Given the description of an element on the screen output the (x, y) to click on. 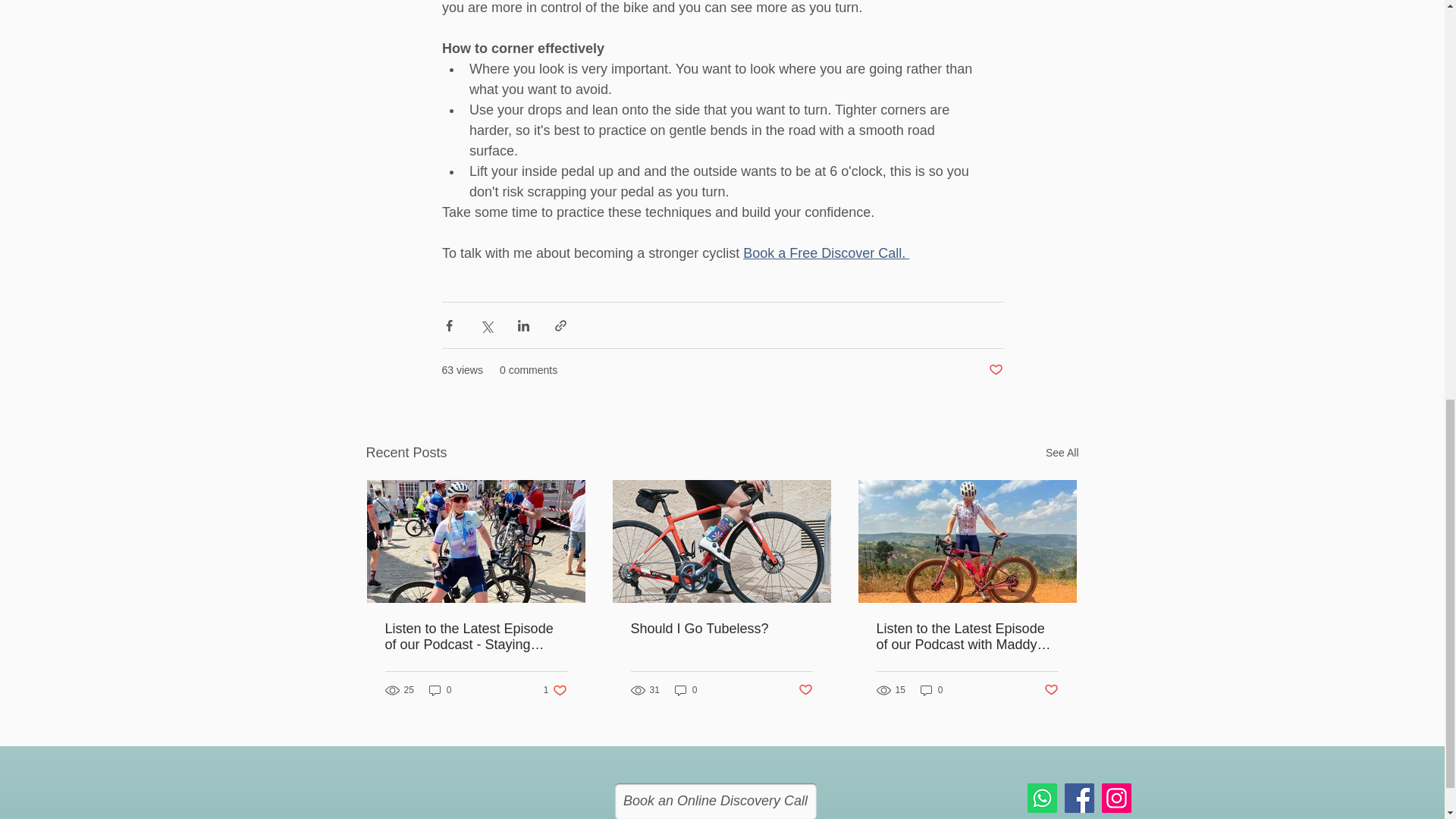
Post not marked as liked (1050, 690)
Post not marked as liked (995, 370)
Book a Free Discover Call.  (825, 253)
0 (931, 690)
Post not marked as liked (804, 690)
0 (555, 690)
Should I Go Tubeless? (440, 690)
